Given the description of an element on the screen output the (x, y) to click on. 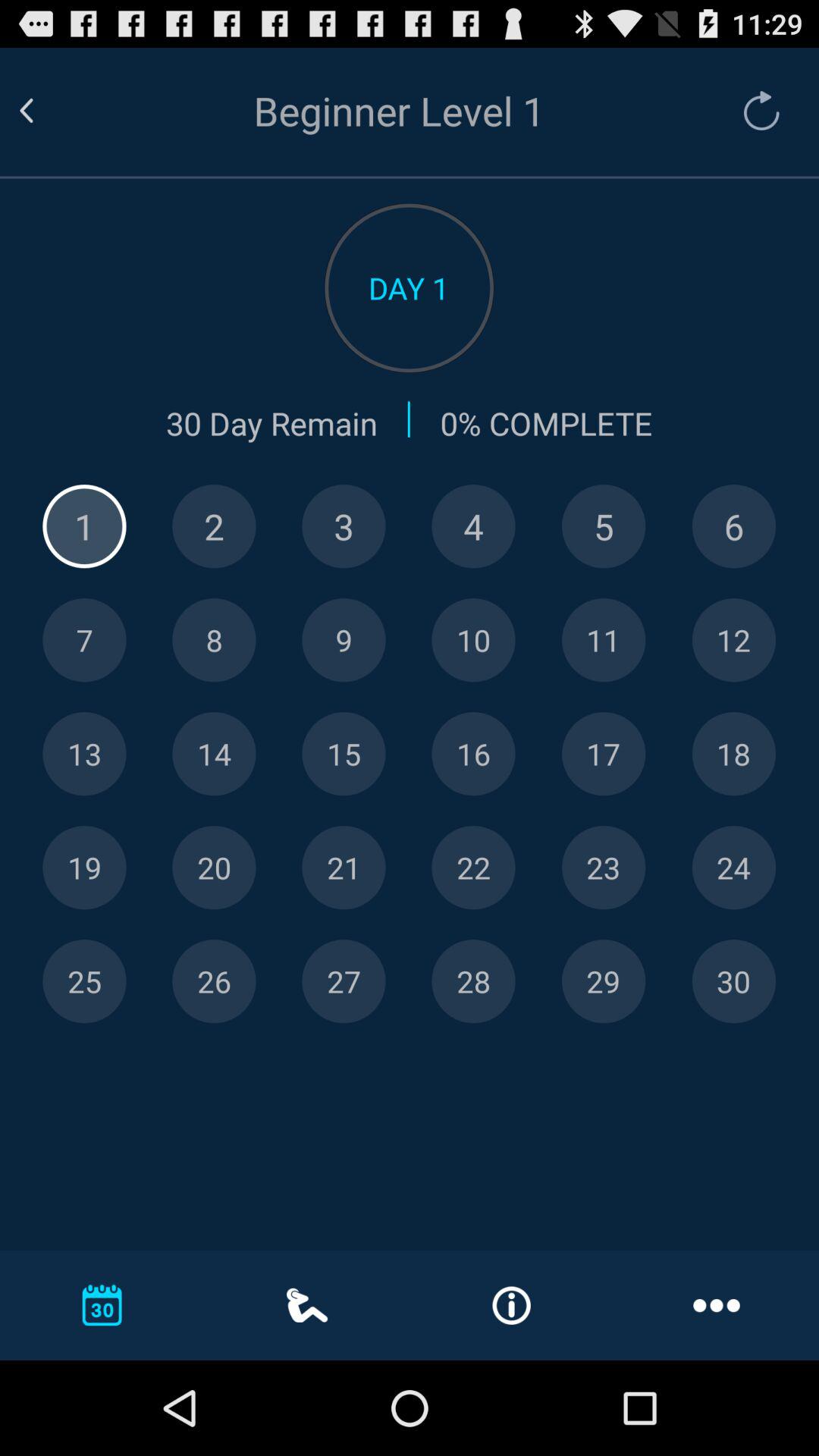
let you look at that specific day (733, 981)
